Given the description of an element on the screen output the (x, y) to click on. 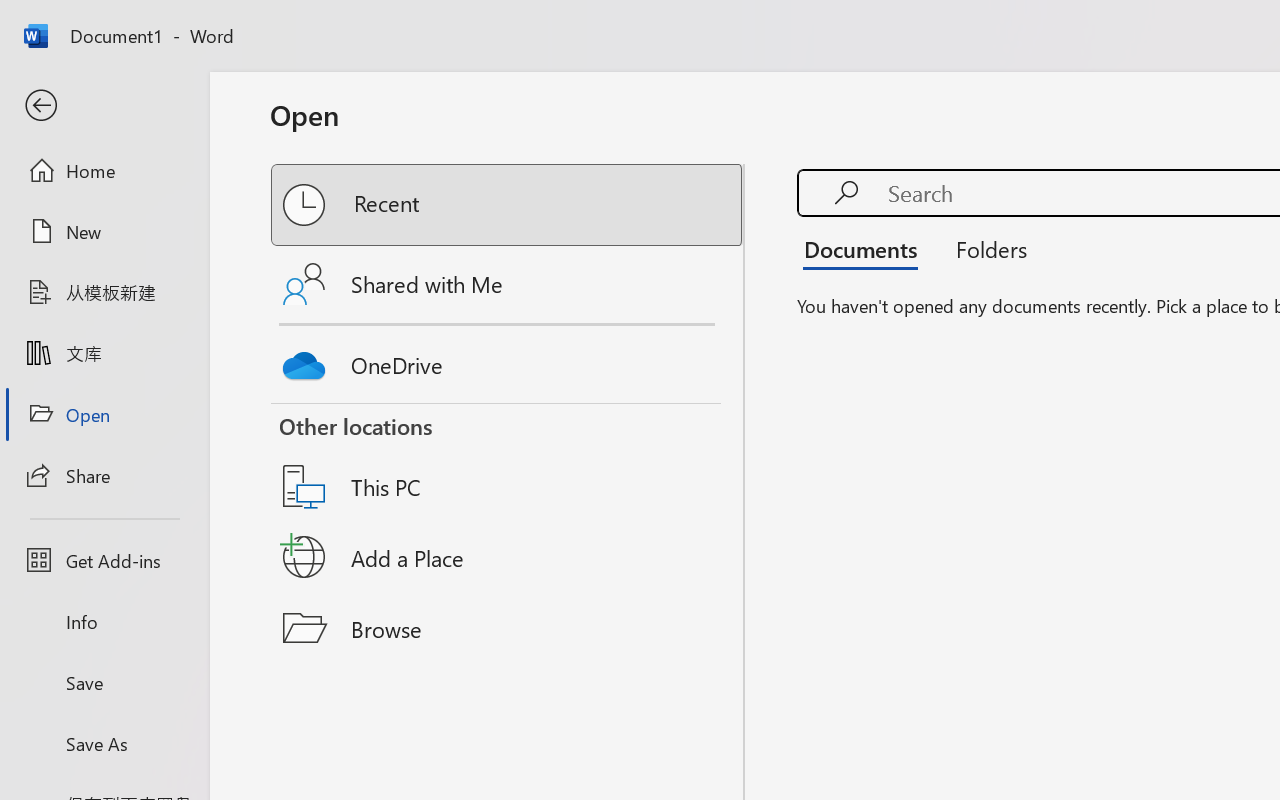
Browse (507, 627)
Info (104, 621)
Back (104, 106)
Save As (104, 743)
Add a Place (507, 557)
Documents (866, 248)
Get Add-ins (104, 560)
New (104, 231)
This PC (507, 461)
